Given the description of an element on the screen output the (x, y) to click on. 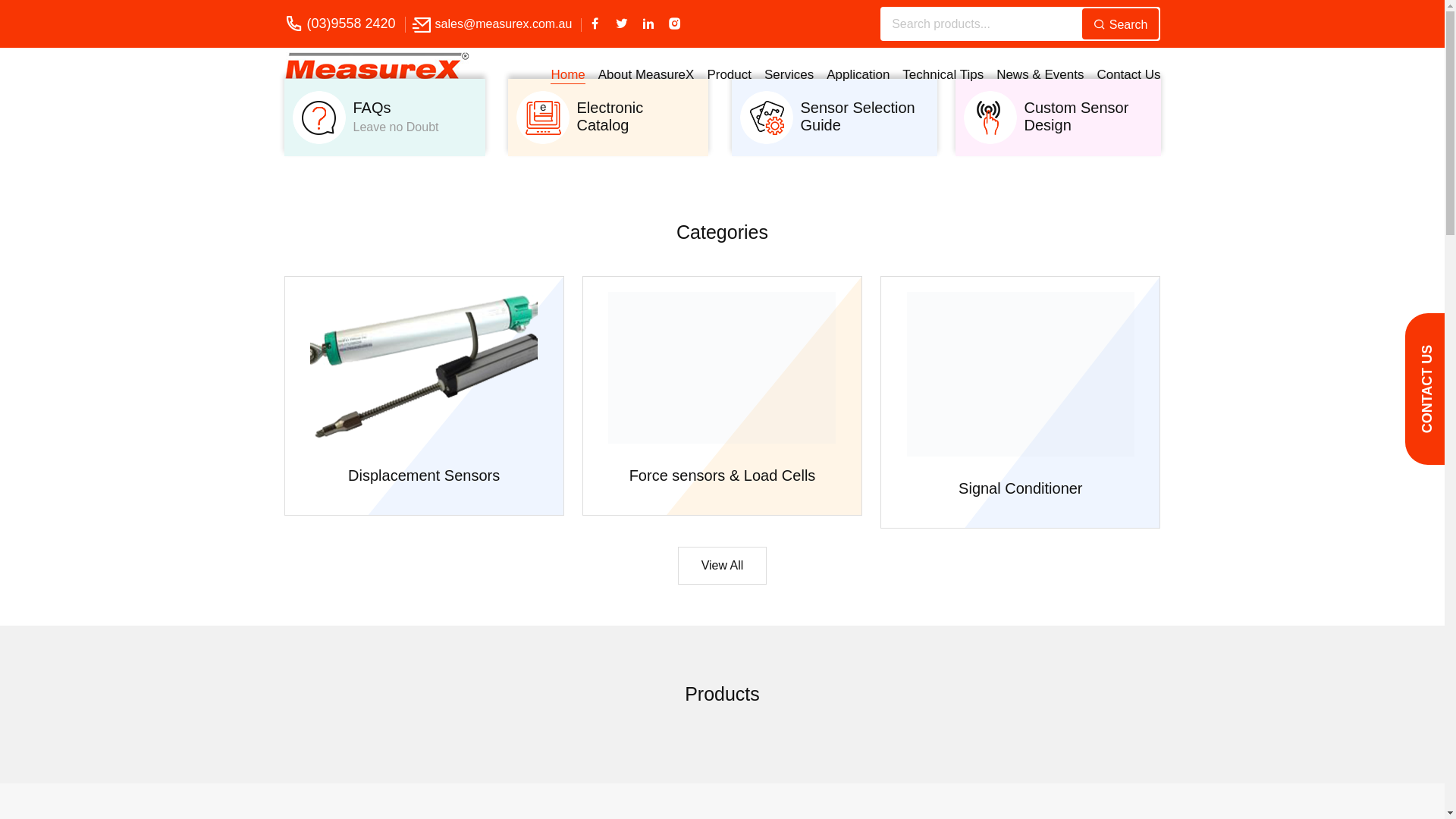
Custom Sensor Design Element type: text (1085, 125)
News & Events Element type: text (1039, 74)
Technical Tips Element type: text (942, 74)
Home Element type: text (567, 74)
sales@measurex.com.au Element type: text (503, 23)
Displacement Sensors Element type: text (423, 475)
Contact Us Element type: text (1128, 74)
View All Element type: text (722, 565)
Application Element type: text (857, 74)
(03)9558 2420 Element type: text (350, 23)
Sensor Selection Guide Element type: text (862, 125)
Electronic Catalog Element type: text (636, 125)
Signal Conditioner Element type: text (1020, 488)
Services Element type: text (788, 74)
About MeasureX Element type: text (646, 74)
Search Element type: text (1120, 23)
FAQsLeave no Doubt Element type: text (396, 116)
Product Element type: text (728, 74)
Force sensors & Load Cells Element type: text (722, 475)
